Given the description of an element on the screen output the (x, y) to click on. 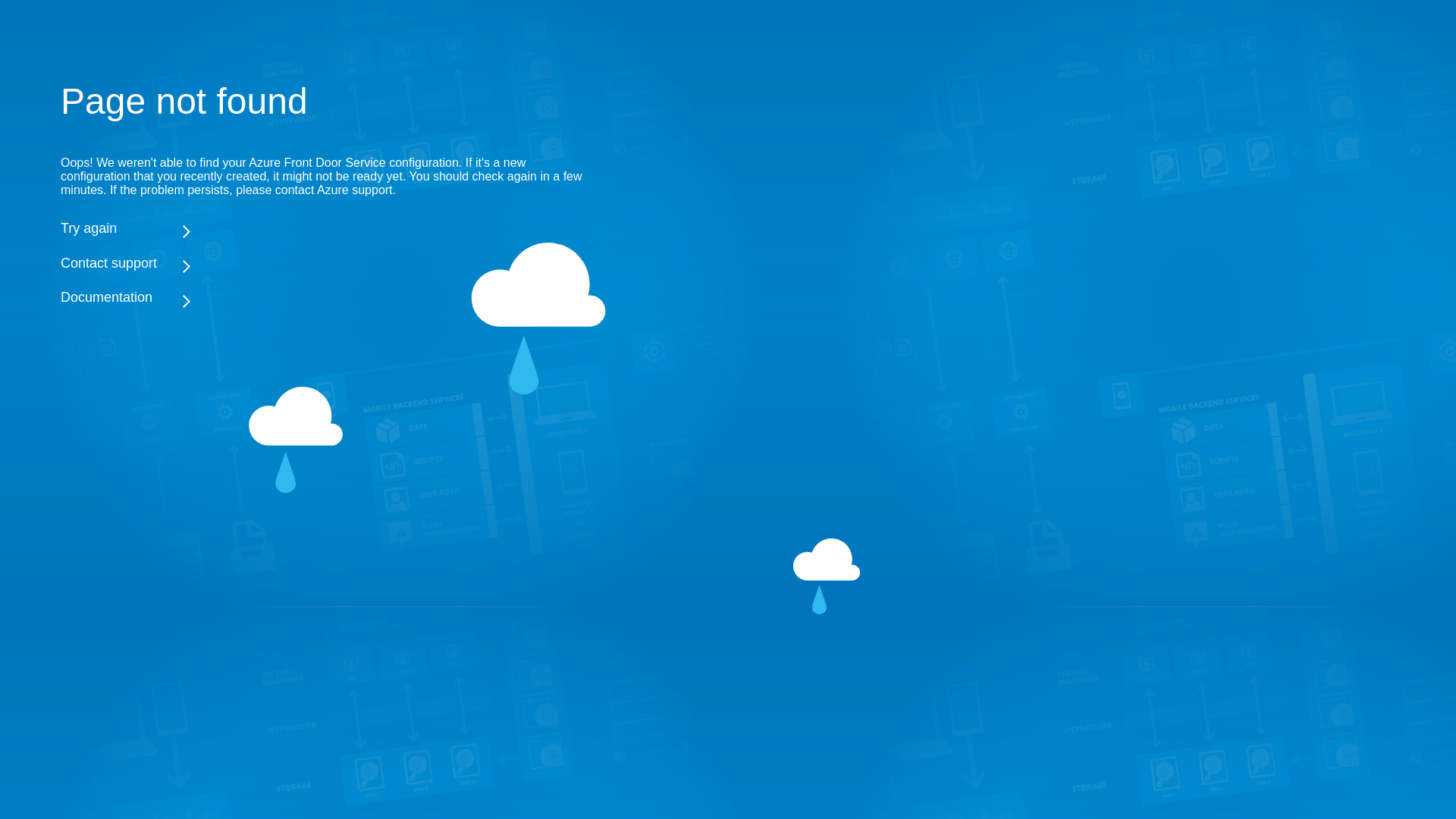
Documentation (326, 297)
Try again (326, 228)
Contact support (326, 262)
